Given the description of an element on the screen output the (x, y) to click on. 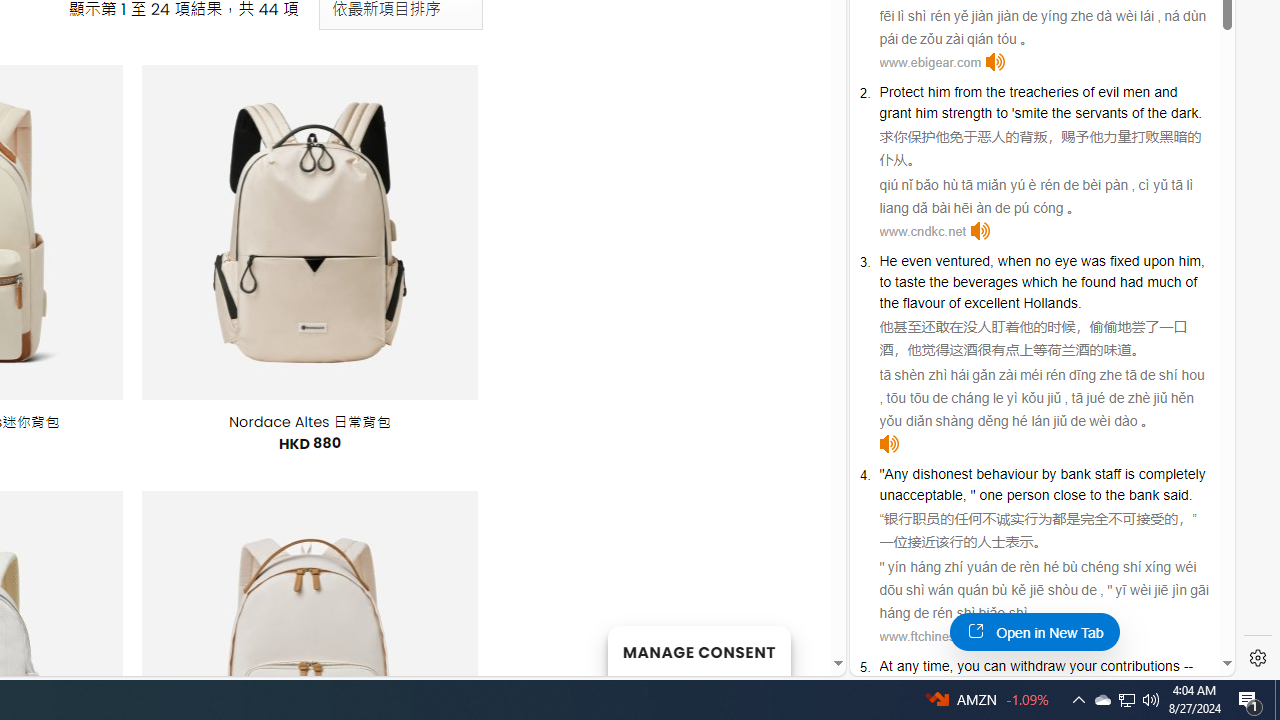
" (972, 494)
withdraw (1037, 665)
www.ftchinese.com (934, 636)
when (1014, 260)
taste (909, 282)
said (1176, 494)
www.cndkc.net (922, 231)
time (935, 665)
completely (1171, 473)
